Given the description of an element on the screen output the (x, y) to click on. 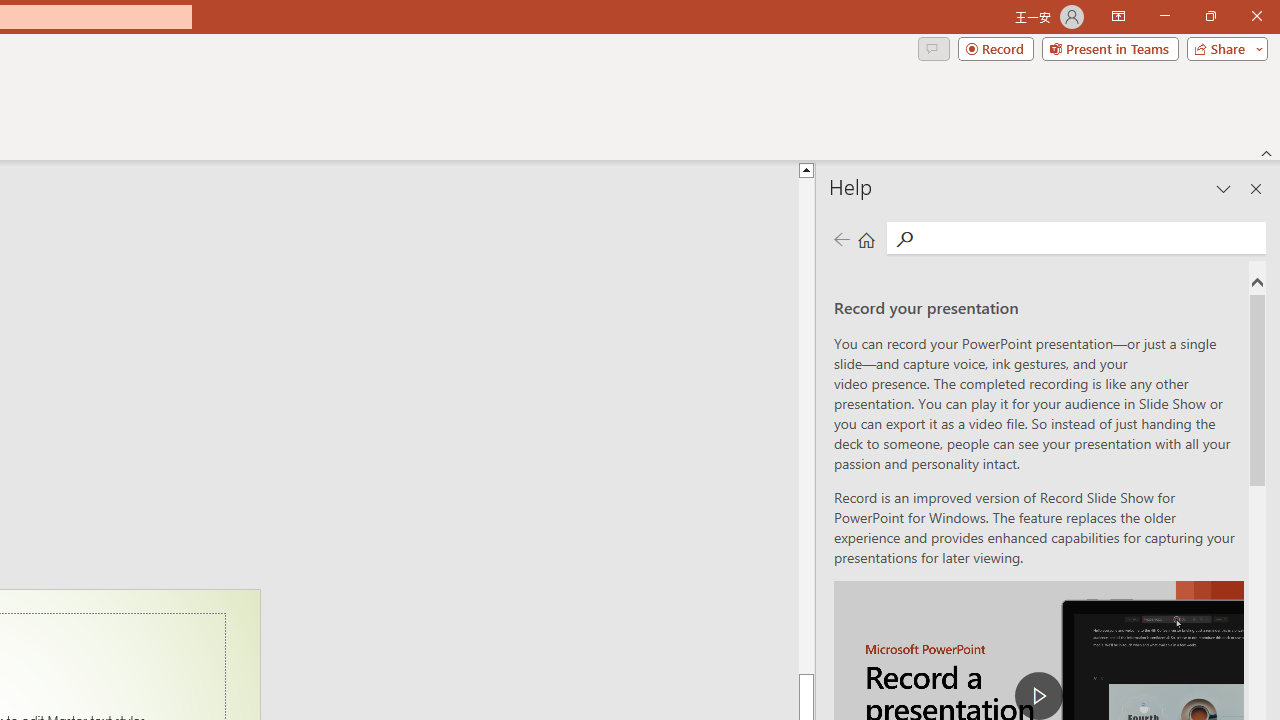
play Record a Presentation (1038, 695)
